Given the description of an element on the screen output the (x, y) to click on. 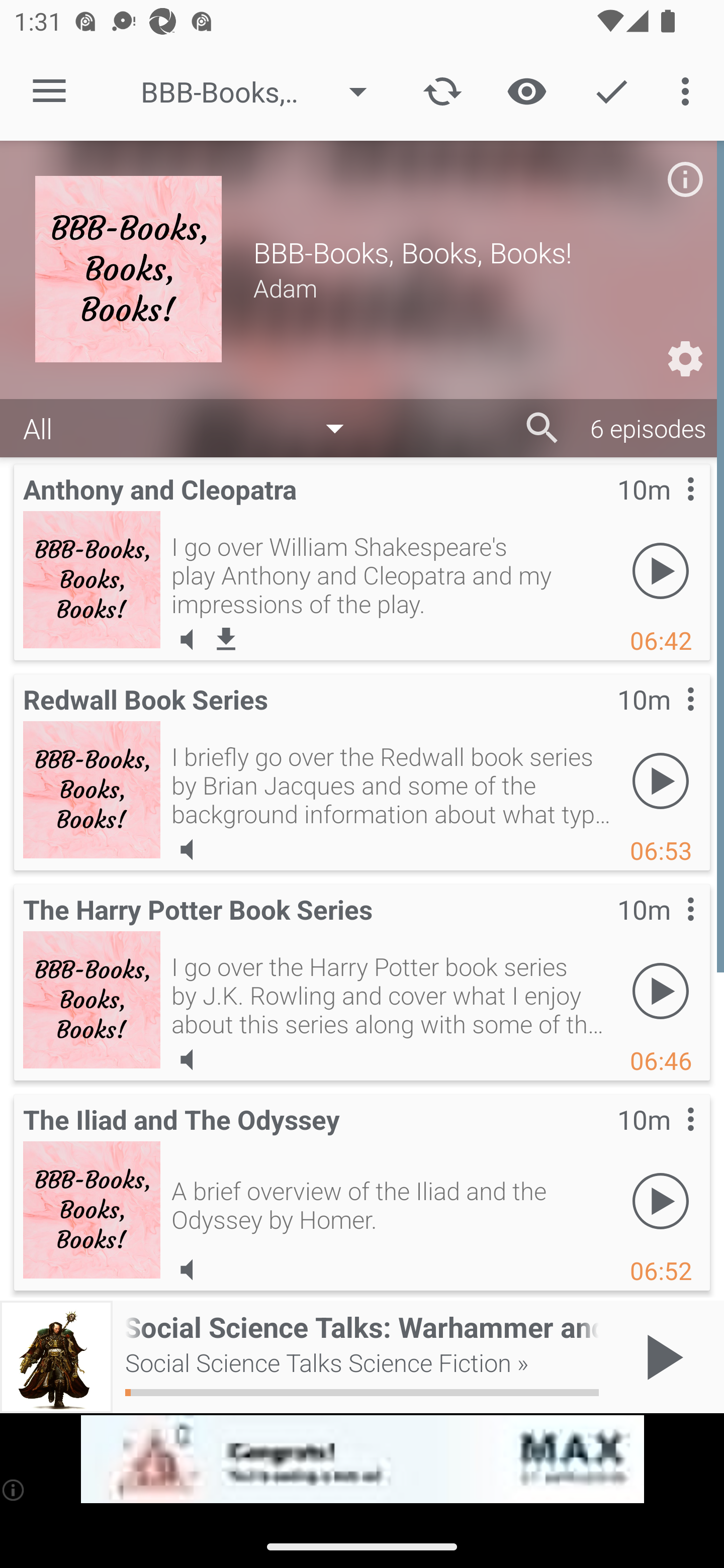
Open navigation sidebar (49, 91)
Update (442, 90)
Show / Hide played content (526, 90)
Action Mode (611, 90)
More options (688, 90)
BBB-Books, Books, Books! (263, 91)
Podcast description (685, 179)
Adam (470, 287)
Custom Settings (685, 358)
Search (542, 428)
All (192, 428)
Contextual menu (668, 508)
Anthony and Cleopatra (91, 579)
Play (660, 571)
Contextual menu (668, 718)
Redwall Book Series (91, 789)
Play (660, 780)
Contextual menu (668, 928)
The Harry Potter Book Series (91, 999)
Play (660, 990)
Contextual menu (668, 1138)
The Iliad and The Odyssey (91, 1209)
Play (660, 1200)
Play / Pause (660, 1356)
app-monetization (362, 1459)
(i) (14, 1489)
